Given the description of an element on the screen output the (x, y) to click on. 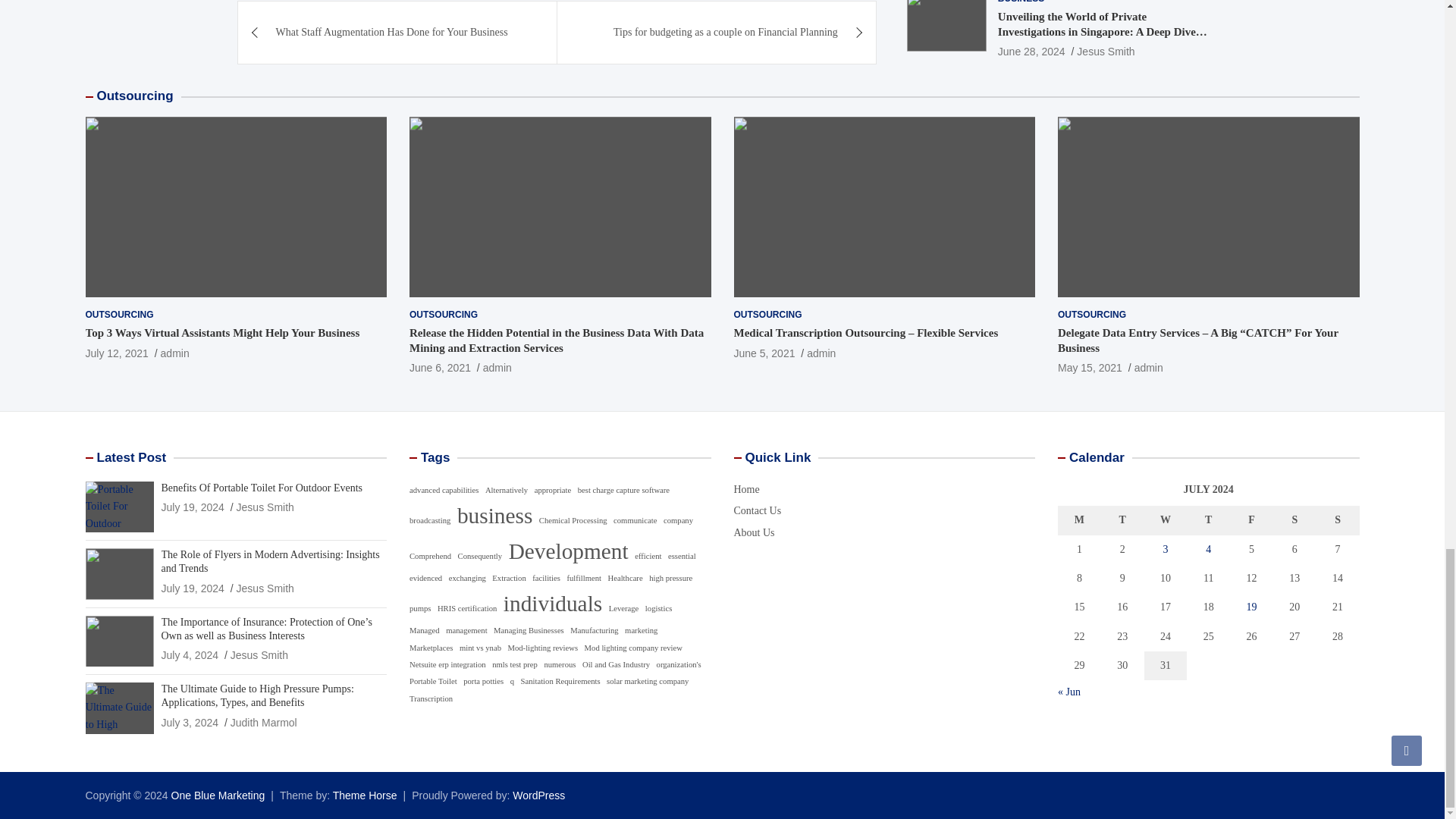
Benefits Of Portable Toilet For Outdoor Events (192, 507)
Top 3 Ways Virtual Assistants Might Help Your Business (116, 353)
